Given the description of an element on the screen output the (x, y) to click on. 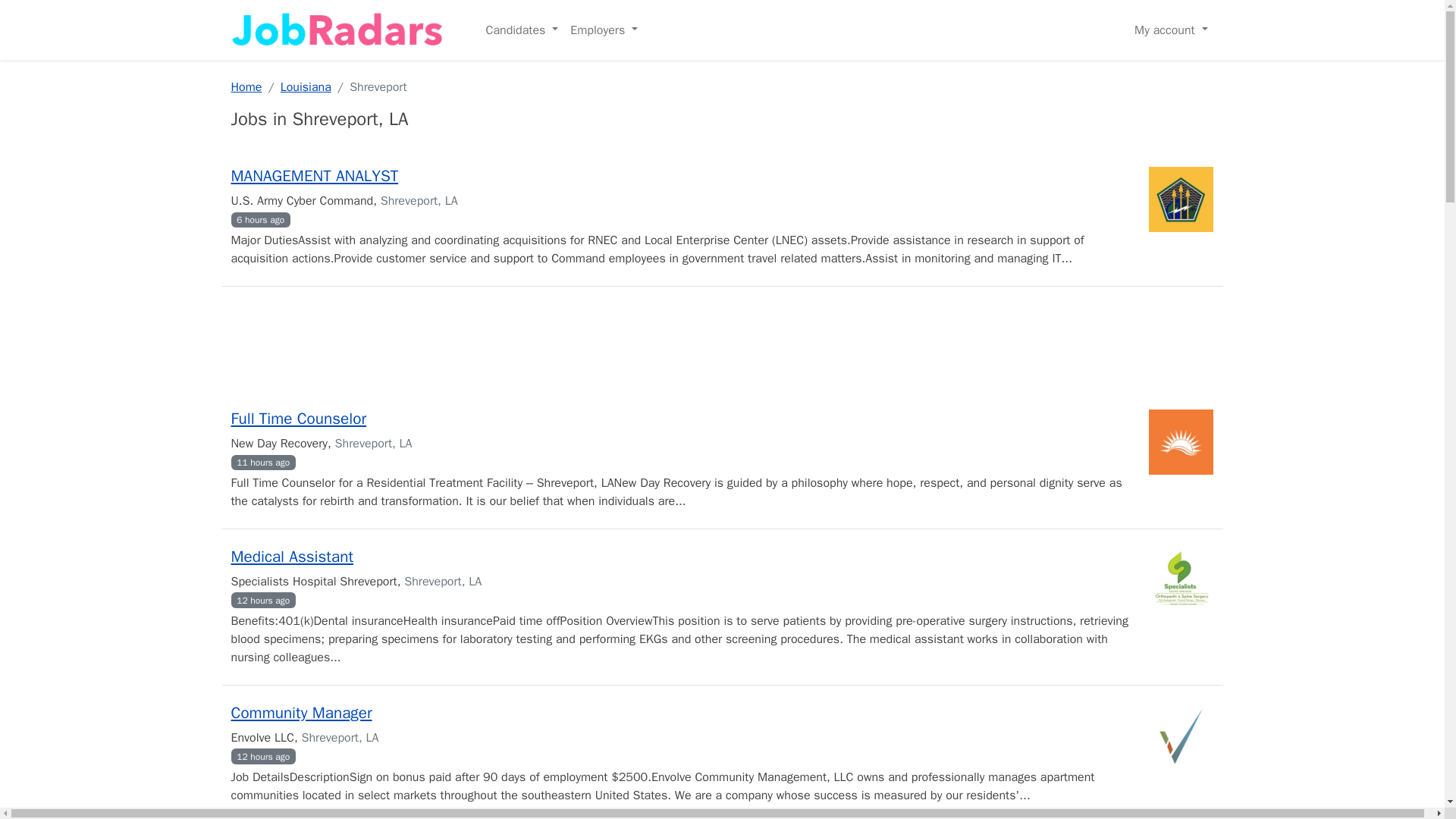
Community Manager (300, 712)
Home (246, 87)
Jobs in the United States (336, 29)
MANAGEMENT ANALYST (313, 175)
Candidates (521, 30)
Louisiana (306, 87)
Employers (603, 30)
Medical Assistant (291, 556)
My account (1170, 30)
Advertisement (721, 345)
Full Time Counselor (298, 418)
